Given the description of an element on the screen output the (x, y) to click on. 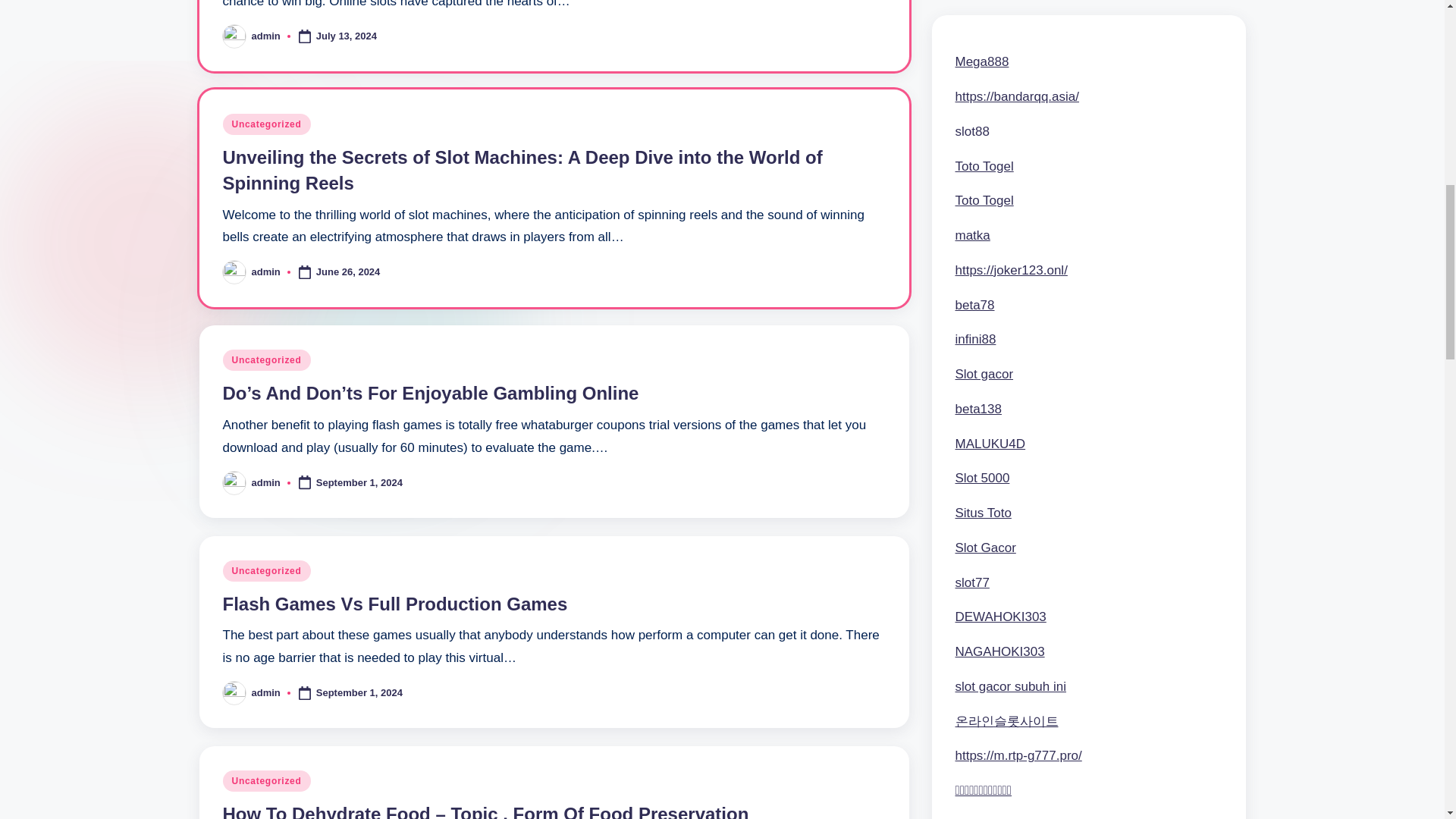
View all posts by admin (266, 35)
View all posts by admin (266, 482)
Flash Games Vs Full Production Games (394, 603)
View all posts by admin (266, 692)
View all posts by admin (266, 271)
